Given the description of an element on the screen output the (x, y) to click on. 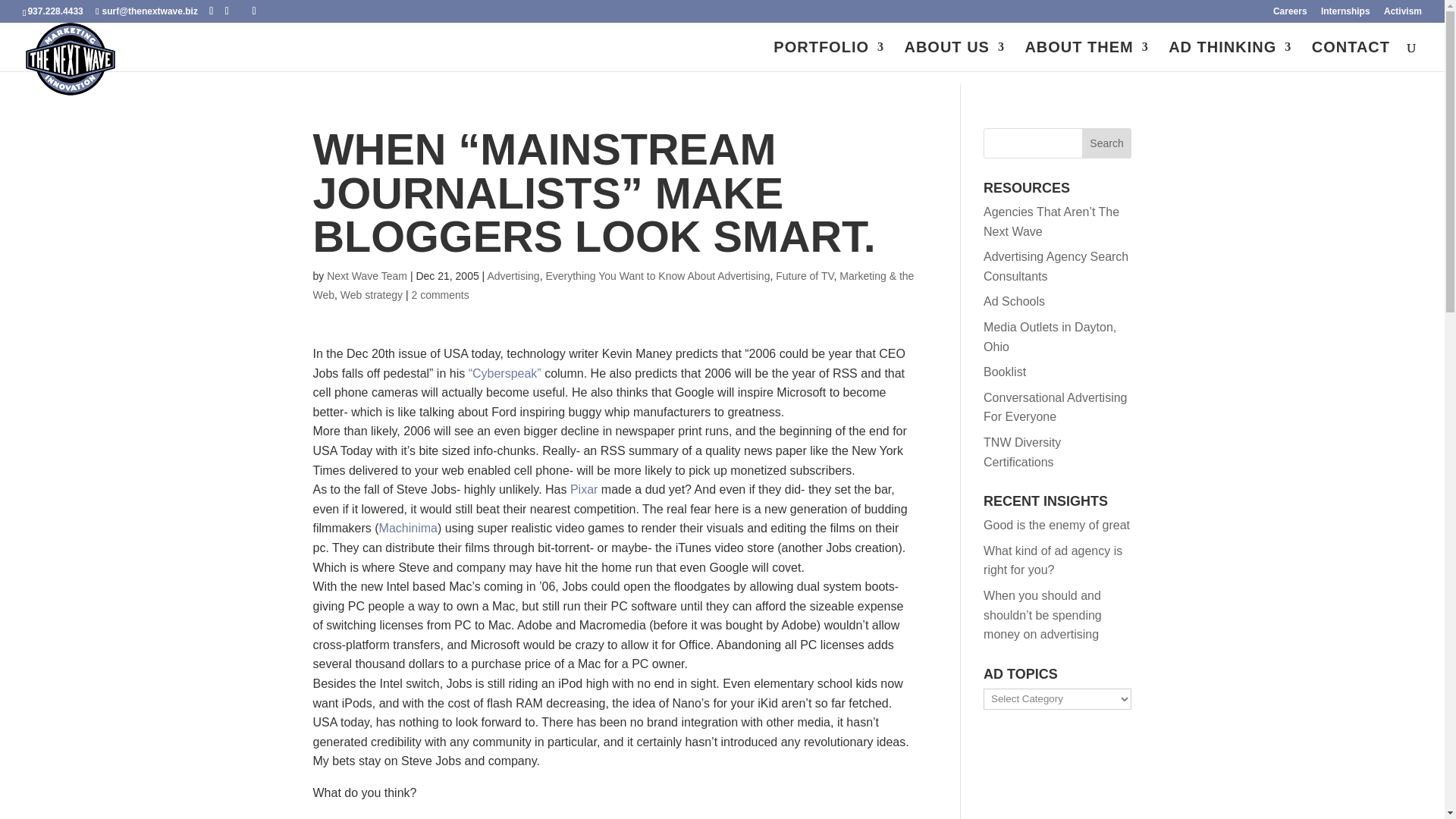
Internships (1345, 14)
ABOUT THEM (1086, 56)
Careers (1289, 14)
ABOUT US (954, 56)
Search (1106, 142)
Activism (1403, 14)
AD THINKING (1230, 56)
Posts by Next Wave Team (366, 275)
PORTFOLIO (828, 56)
CONTACT (1350, 56)
